Given the description of an element on the screen output the (x, y) to click on. 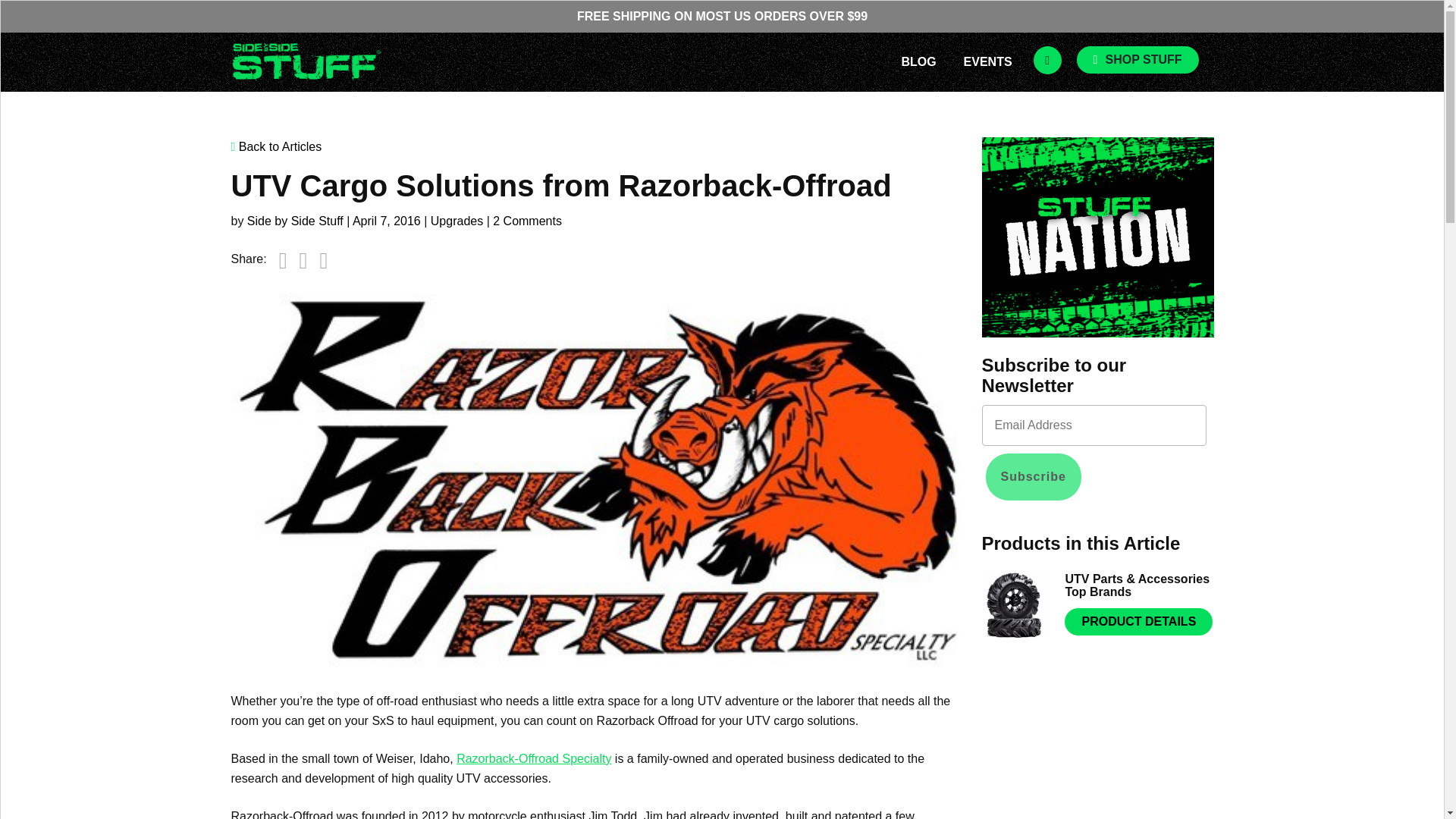
PRODUCT DETAILS (1138, 621)
Side by Side Stuff (295, 220)
BLOG (918, 61)
Back to Articles (596, 147)
Submit (29, 14)
EVENTS (987, 61)
SHOP STUFF (1137, 59)
April 7, 2016 (386, 220)
Upgrades (456, 220)
Razorback-Offroad Specialty (534, 758)
2 Comments (527, 220)
Submit (115, 14)
Subscribe (1033, 476)
